Given the description of an element on the screen output the (x, y) to click on. 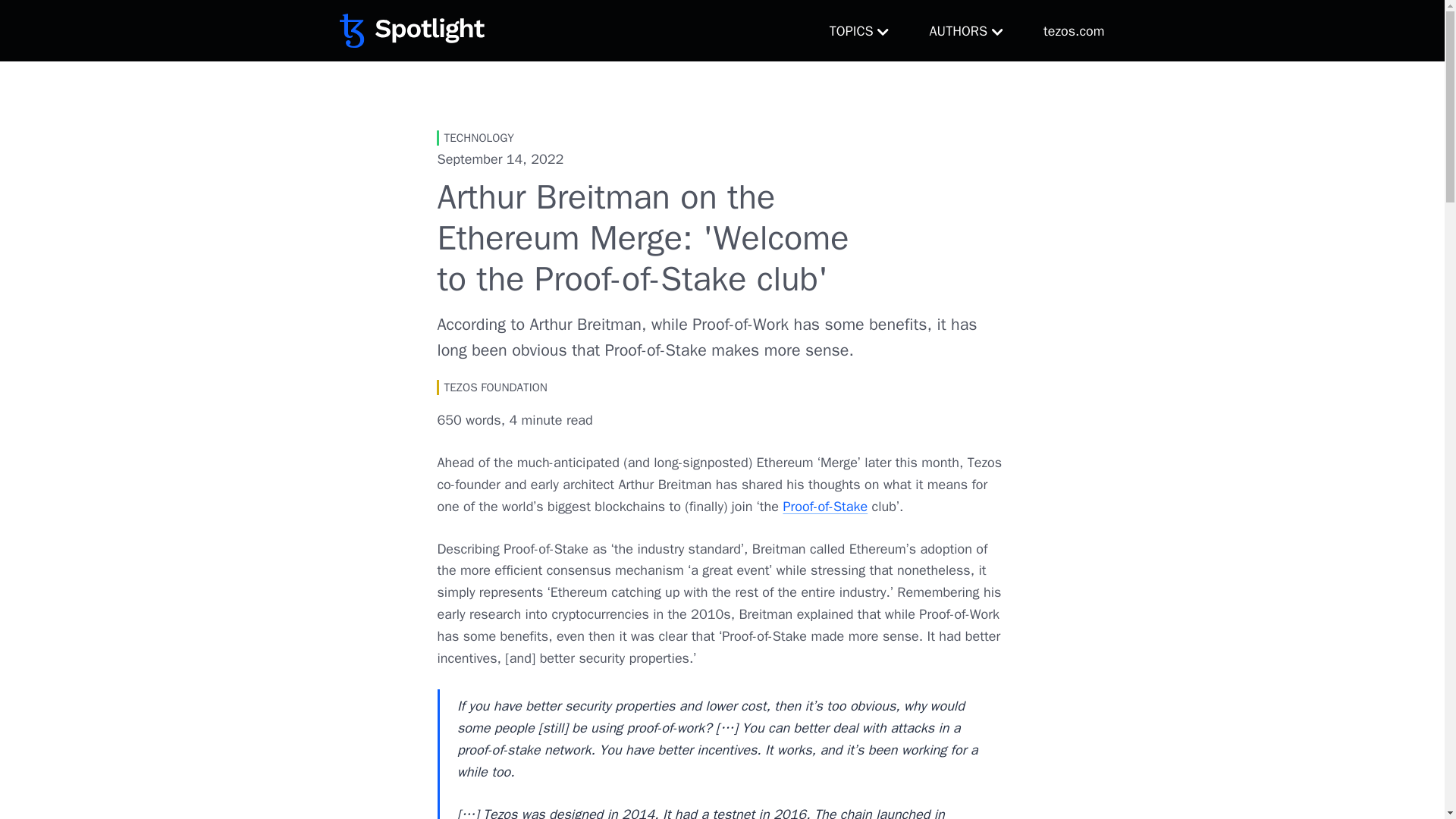
Tezos Spotlight (411, 33)
TECHNOLOGY (474, 137)
tezos.com (1074, 30)
TEZOS FOUNDATION (491, 387)
Proof-of-Stake (825, 506)
